Given the description of an element on the screen output the (x, y) to click on. 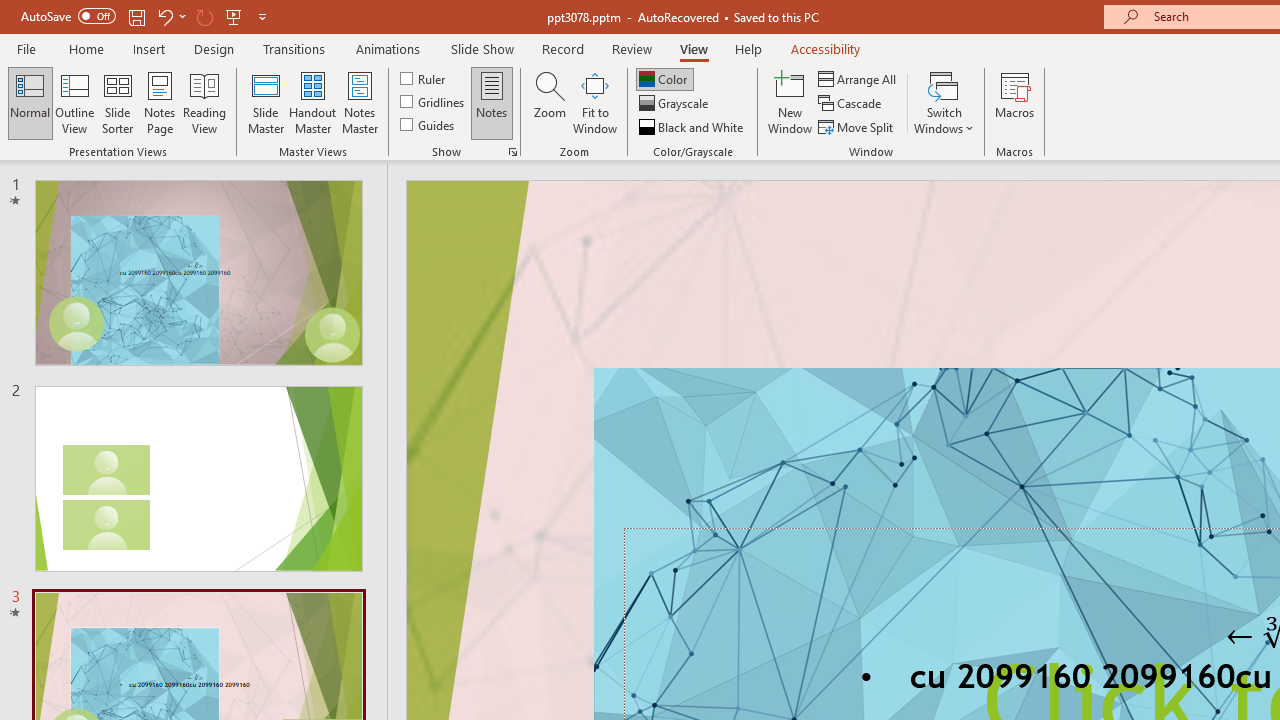
Notes Page (159, 102)
Grayscale (675, 103)
